Given the description of an element on the screen output the (x, y) to click on. 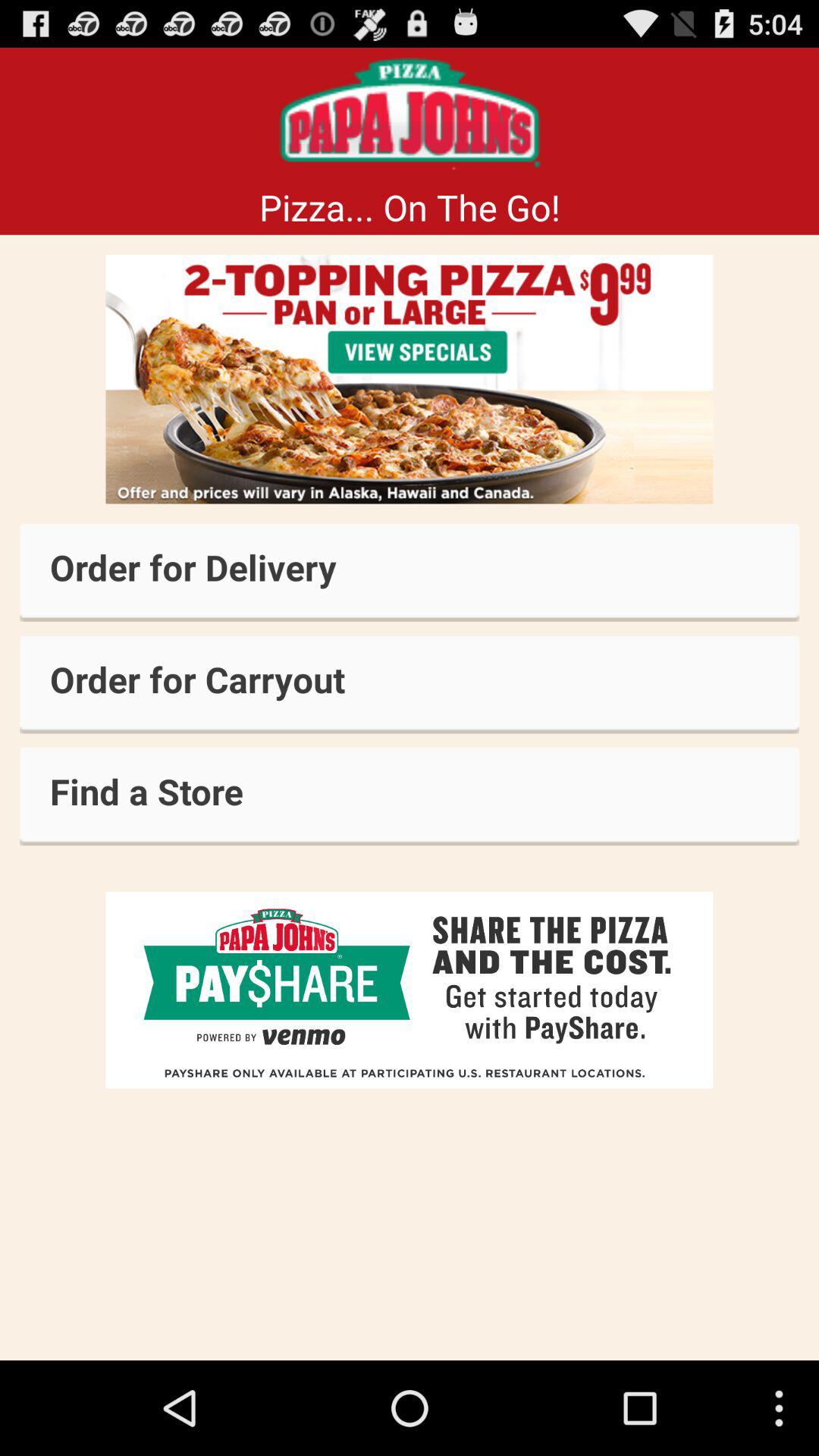
add coupon (409, 378)
